Given the description of an element on the screen output the (x, y) to click on. 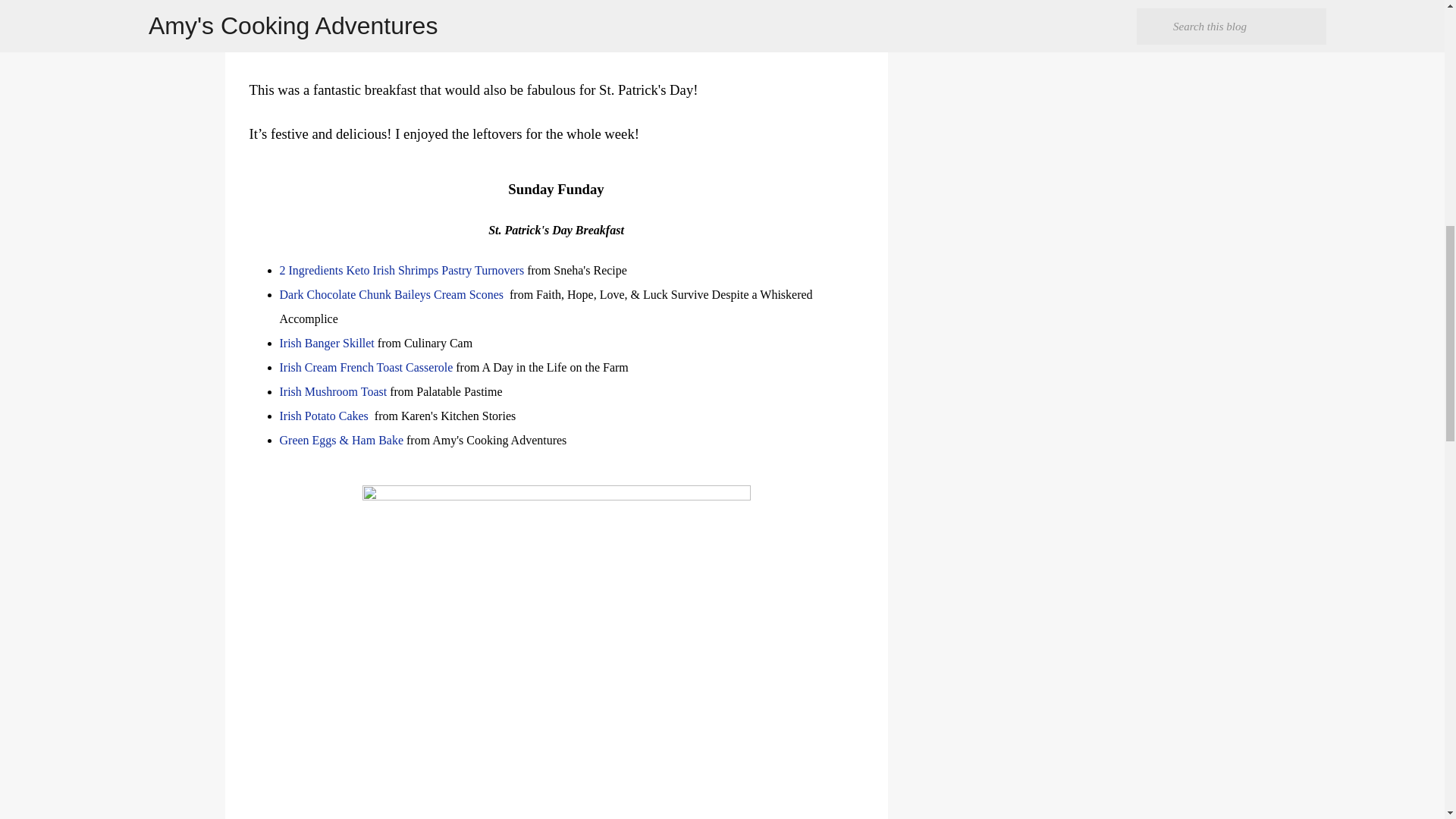
Dark Chocolate Chunk Baileys Cream Scones  (392, 294)
Irish Banger Skillet  (328, 342)
Irish Cream French Toast Casserole  (367, 367)
Irish Potato Cakes (323, 415)
2 Ingredients Keto Irish Shrimps Pastry Turnovers (401, 269)
Irish Mushroom Toast (333, 391)
